Given the description of an element on the screen output the (x, y) to click on. 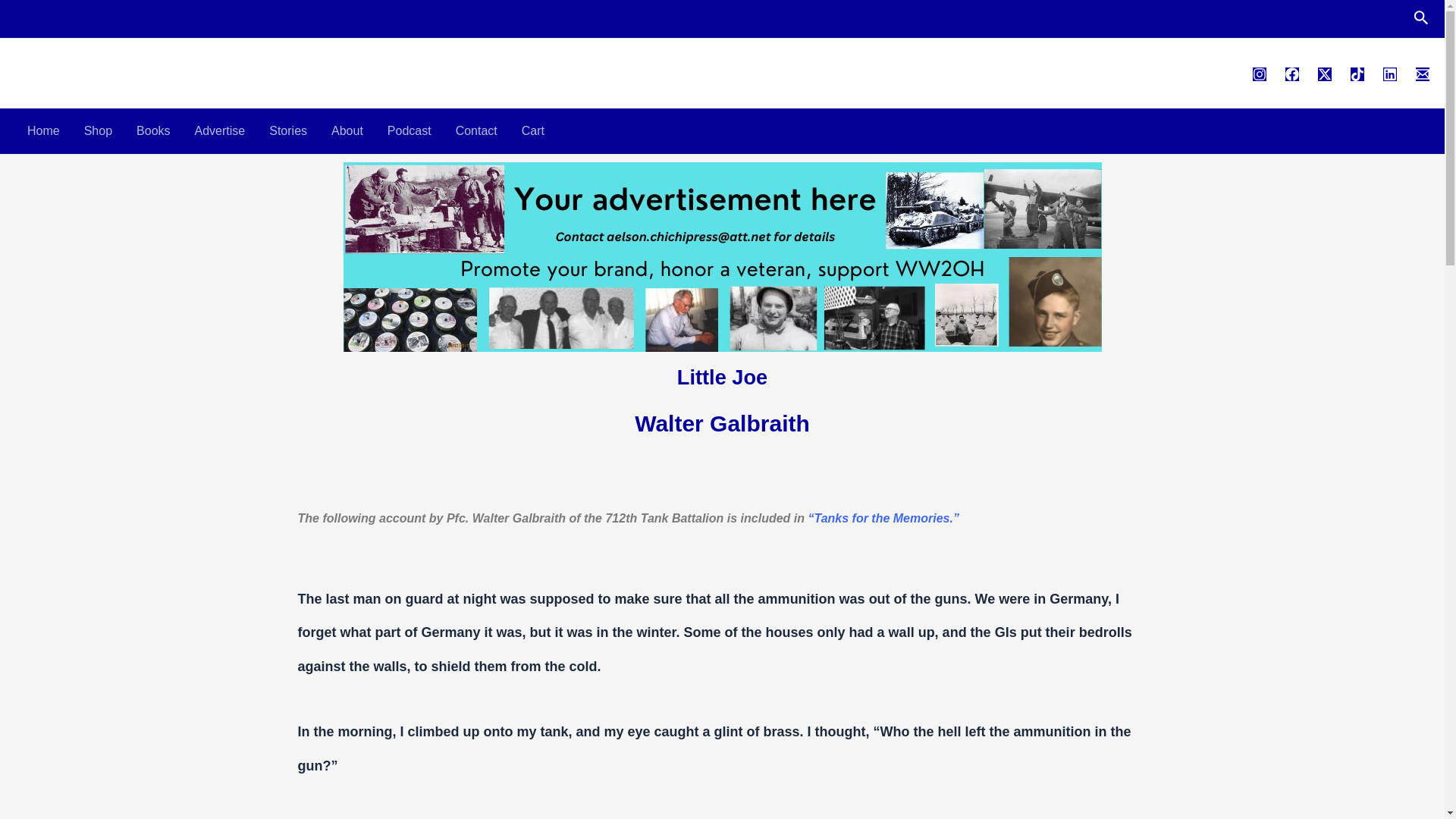
Contact (476, 130)
Cart (532, 130)
Advertise (220, 130)
Podcast (409, 130)
Shop (97, 130)
About (346, 130)
Aaron Elson (84, 64)
Home (42, 130)
Books (152, 130)
Stories (287, 130)
